Given the description of an element on the screen output the (x, y) to click on. 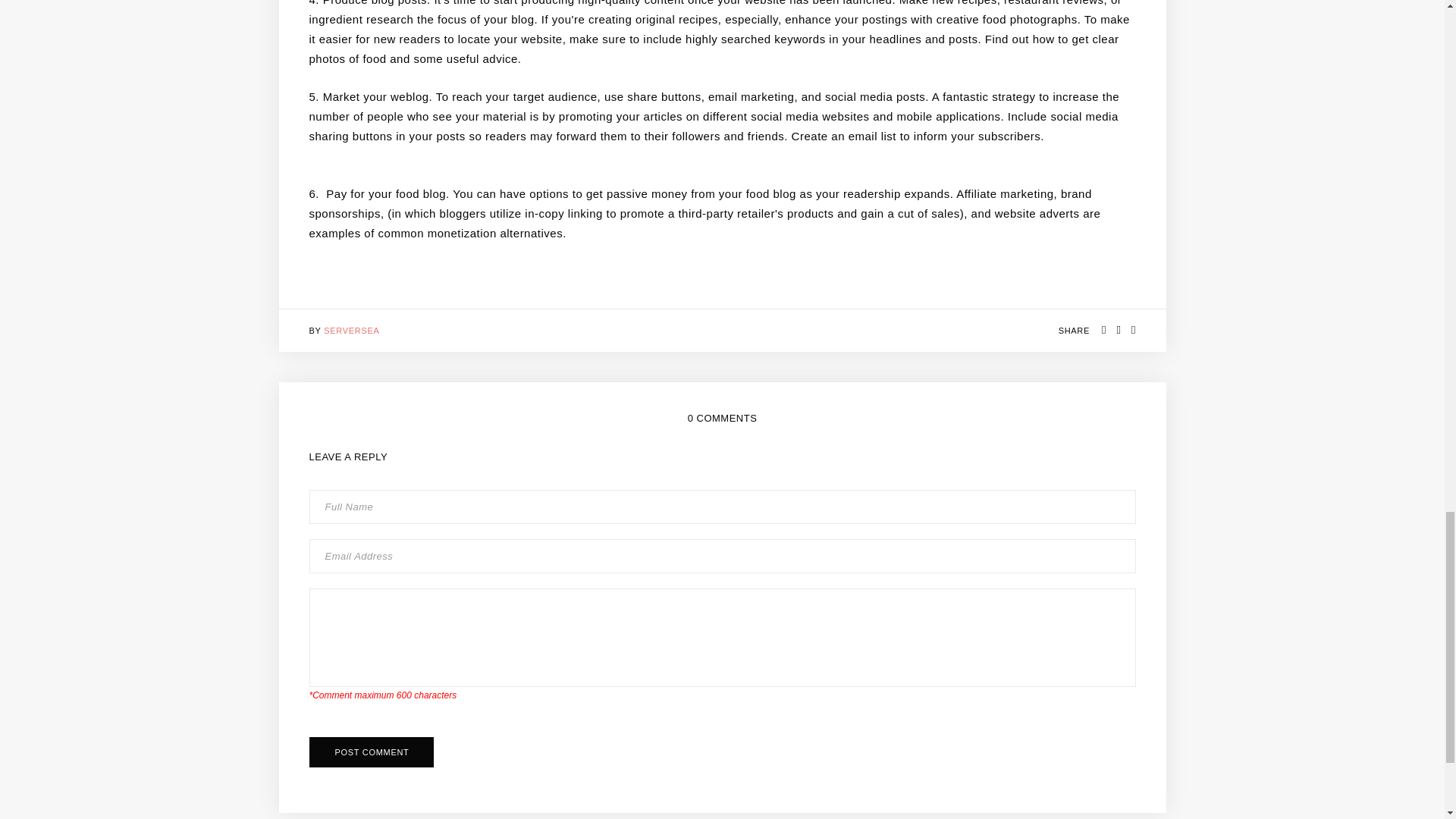
Post Comment (370, 752)
Post Comment (370, 752)
SERVERSEA (350, 329)
